Given the description of an element on the screen output the (x, y) to click on. 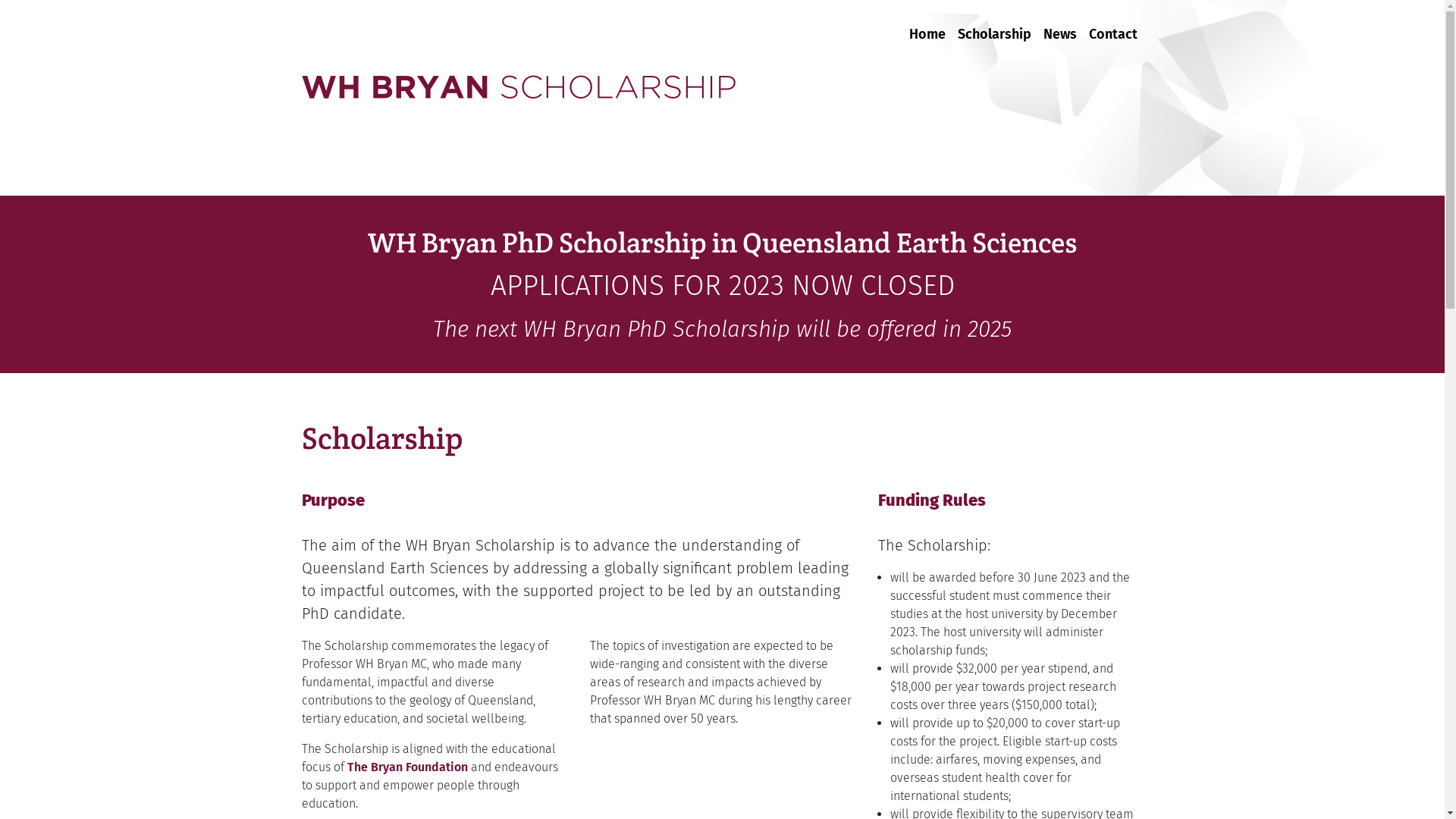
Contact Element type: text (1112, 25)
Scholarship Element type: text (993, 25)
Home Element type: text (926, 25)
News Element type: text (1059, 25)
The Bryan Foundation Element type: text (407, 766)
